Given the description of an element on the screen output the (x, y) to click on. 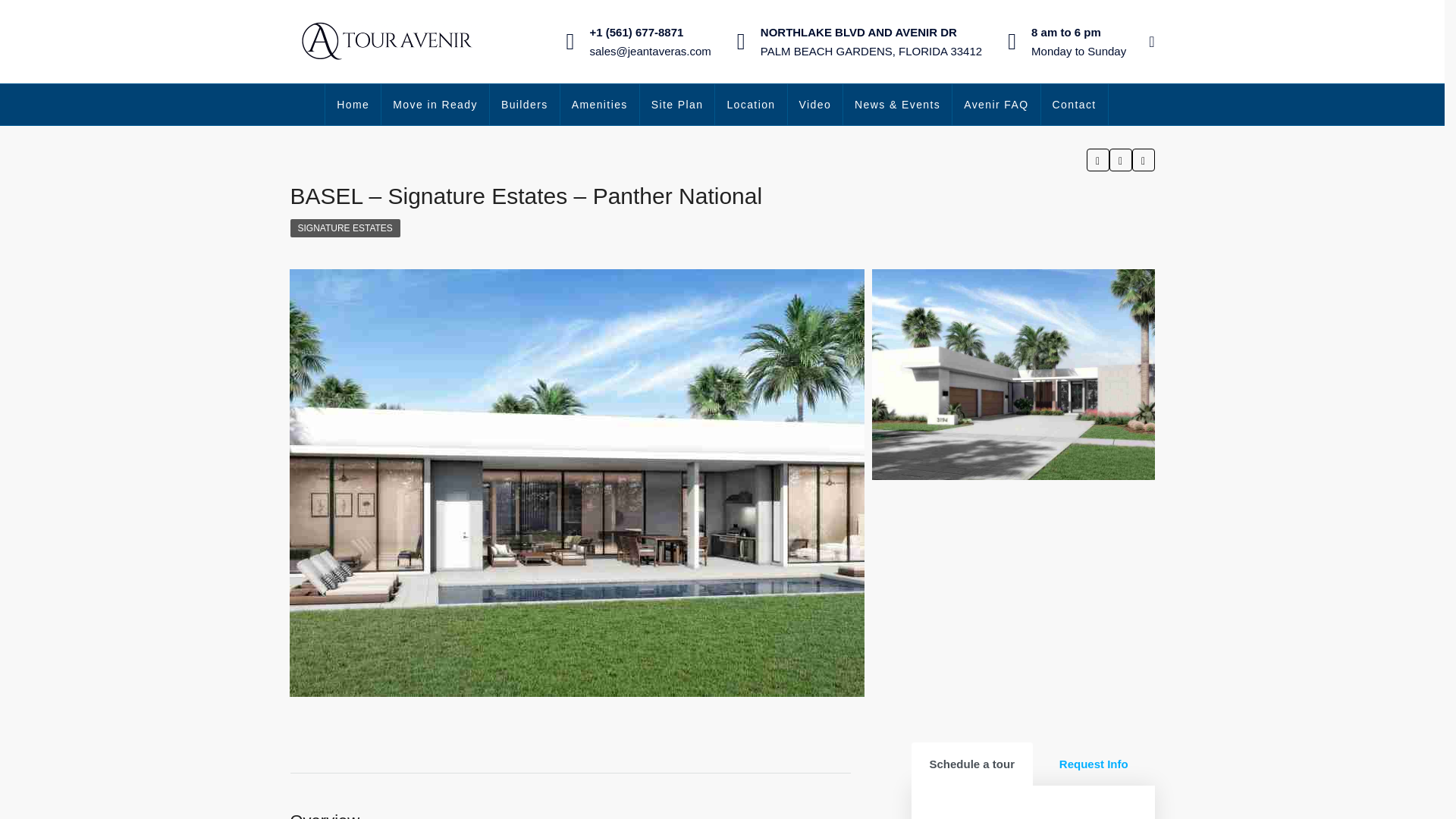
Amenities (599, 104)
Avenir FAQ (995, 104)
Move in Ready (435, 104)
SIGNATURE ESTATES (343, 228)
Home (352, 104)
Contact (1074, 104)
Site Plan (677, 104)
Video (815, 104)
Location (750, 104)
Builders (524, 104)
